Given the description of an element on the screen output the (x, y) to click on. 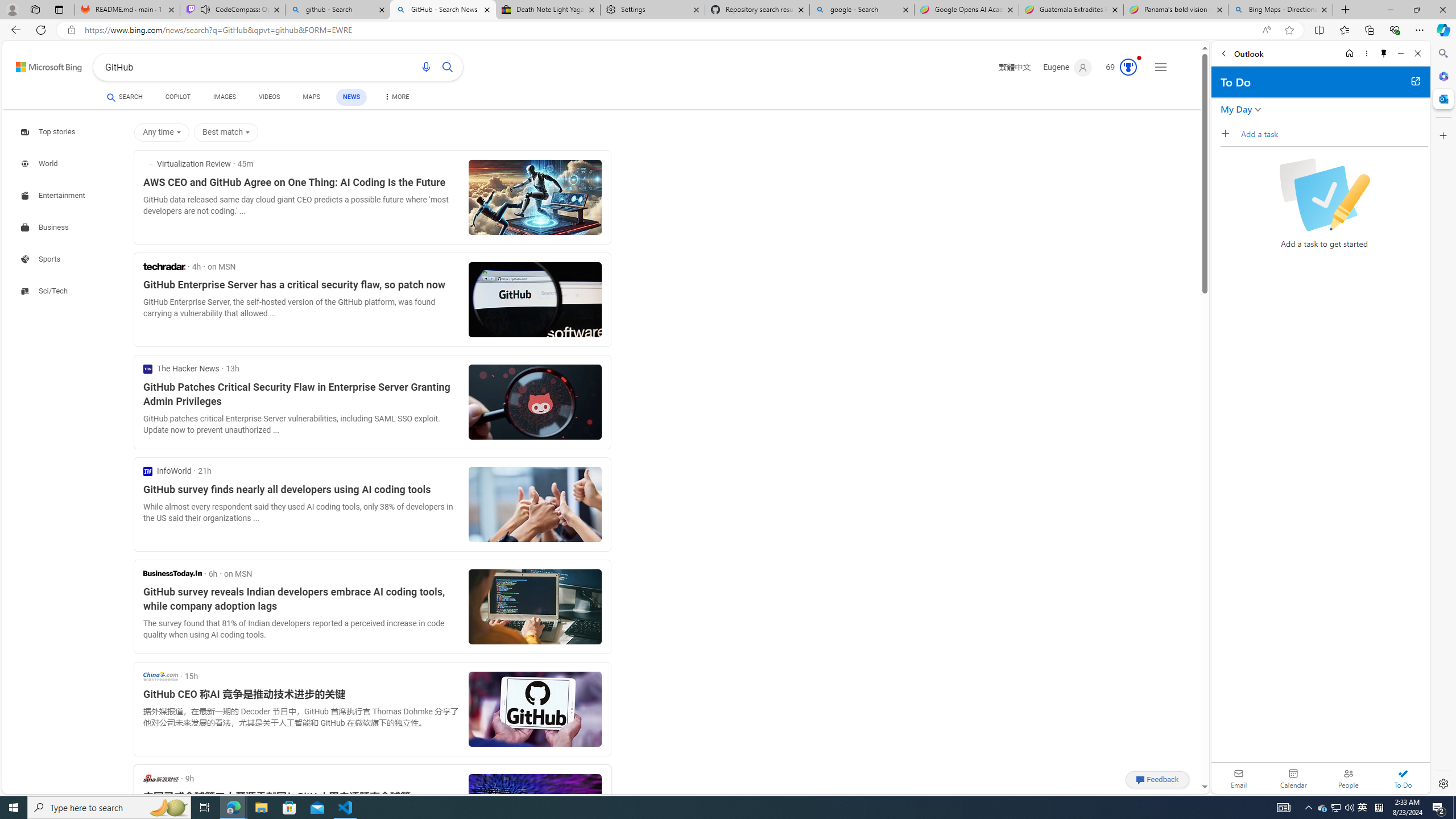
Search button (447, 66)
Add a task (1228, 133)
MORE (395, 98)
SEARCH (124, 96)
COPILOT (178, 98)
Settings and quick links (1160, 67)
